Given the description of an element on the screen output the (x, y) to click on. 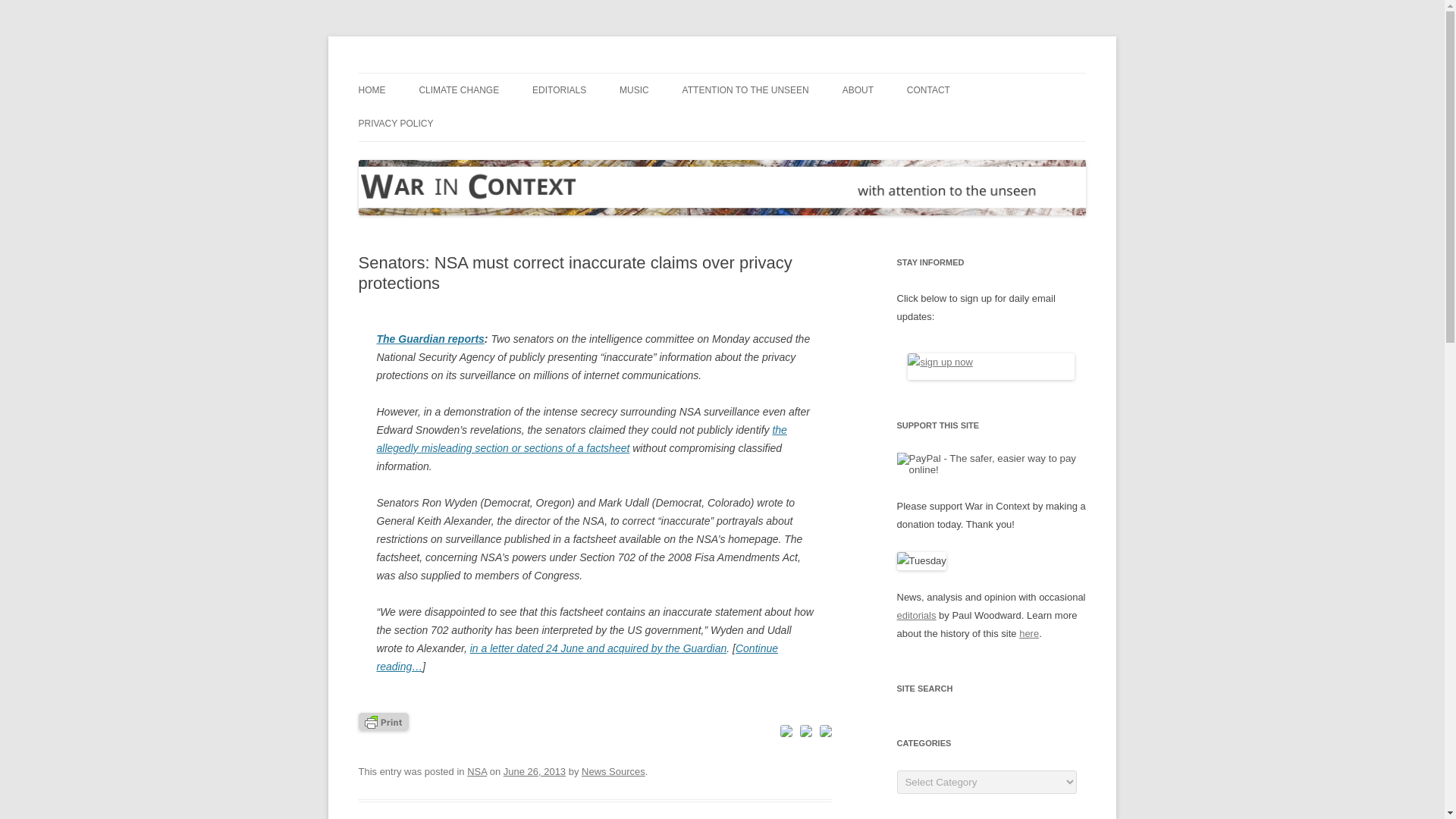
PRIVACY POLICY (395, 123)
Share by email (825, 730)
CLIMATE CHANGE (459, 90)
NSA (476, 771)
EDITORIALS (559, 90)
here (1029, 633)
War in Context (427, 72)
ATTENTION TO THE UNSEEN (745, 90)
June 26, 2013 (534, 771)
